Given the description of an element on the screen output the (x, y) to click on. 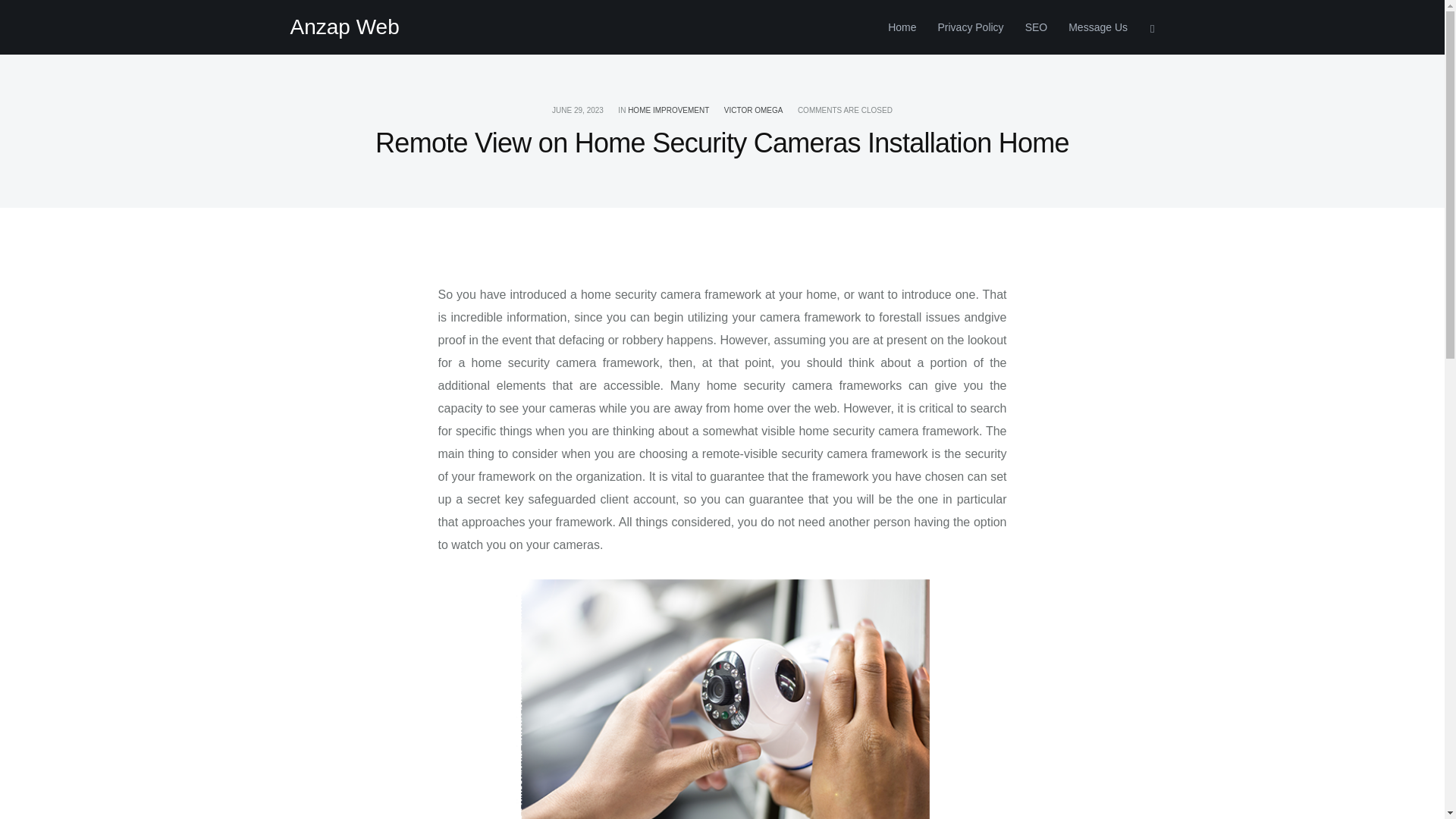
Posts by Victor Omega (753, 110)
Anzap Web (343, 27)
HOME IMPROVEMENT (668, 110)
Message Us (1092, 27)
VICTOR OMEGA (753, 110)
Home (901, 27)
Privacy Policy (969, 27)
